Given the description of an element on the screen output the (x, y) to click on. 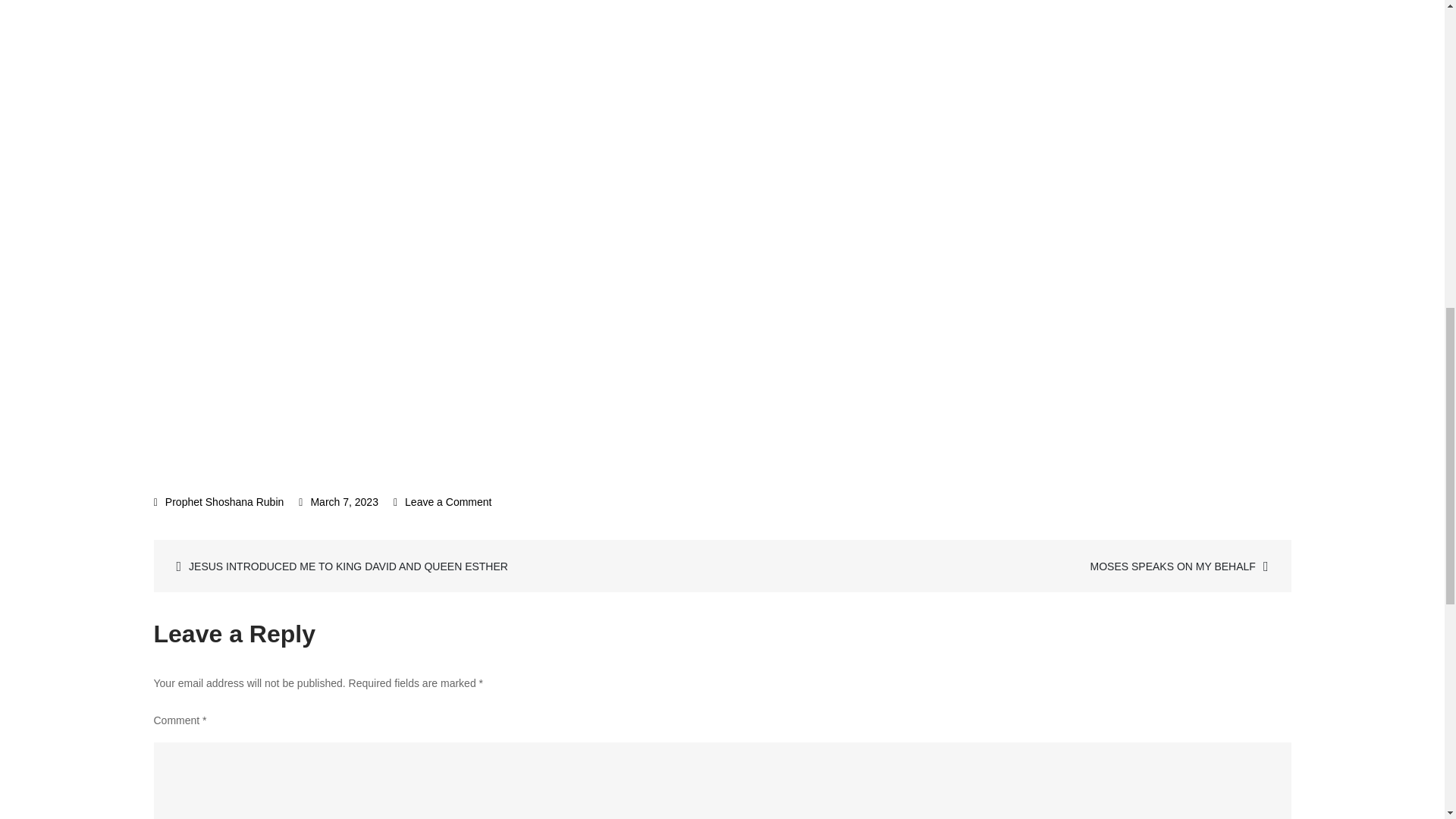
Leave a Comment (442, 501)
March 7, 2023 (338, 501)
MOSES SPEAKS ON MY BEHALF (1004, 566)
JESUS INTRODUCED ME TO KING DAVID AND QUEEN ESTHER (439, 566)
Prophet Shoshana Rubin (218, 501)
